Given the description of an element on the screen output the (x, y) to click on. 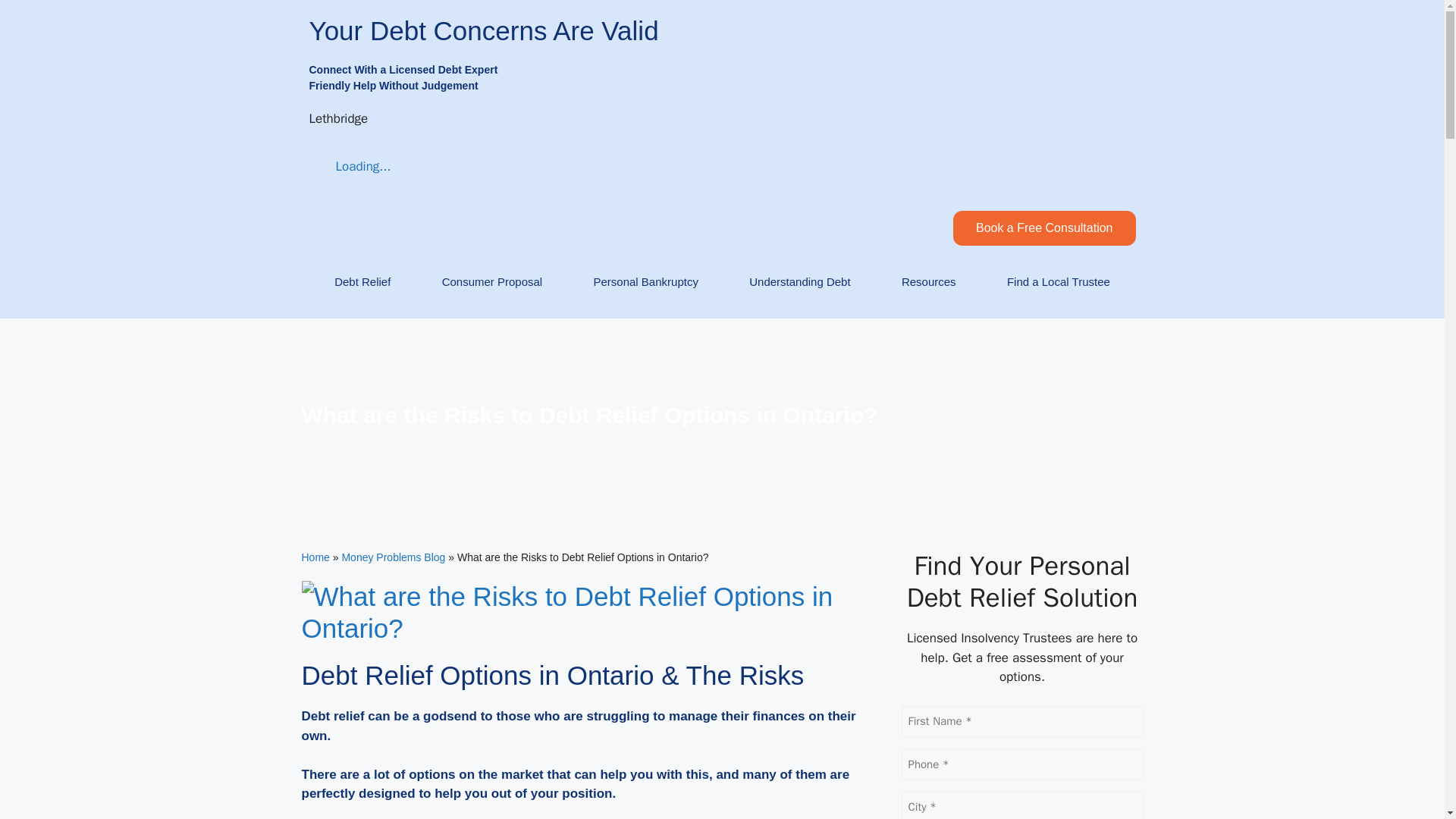
Consumer Proposal (491, 282)
Loading... (349, 166)
Book a Free Consultation (1044, 227)
Find a Local Trustee (1058, 282)
Understanding Debt (799, 282)
Debt Relief (362, 282)
Resources (928, 282)
Personal Bankruptcy (645, 282)
